Given the description of an element on the screen output the (x, y) to click on. 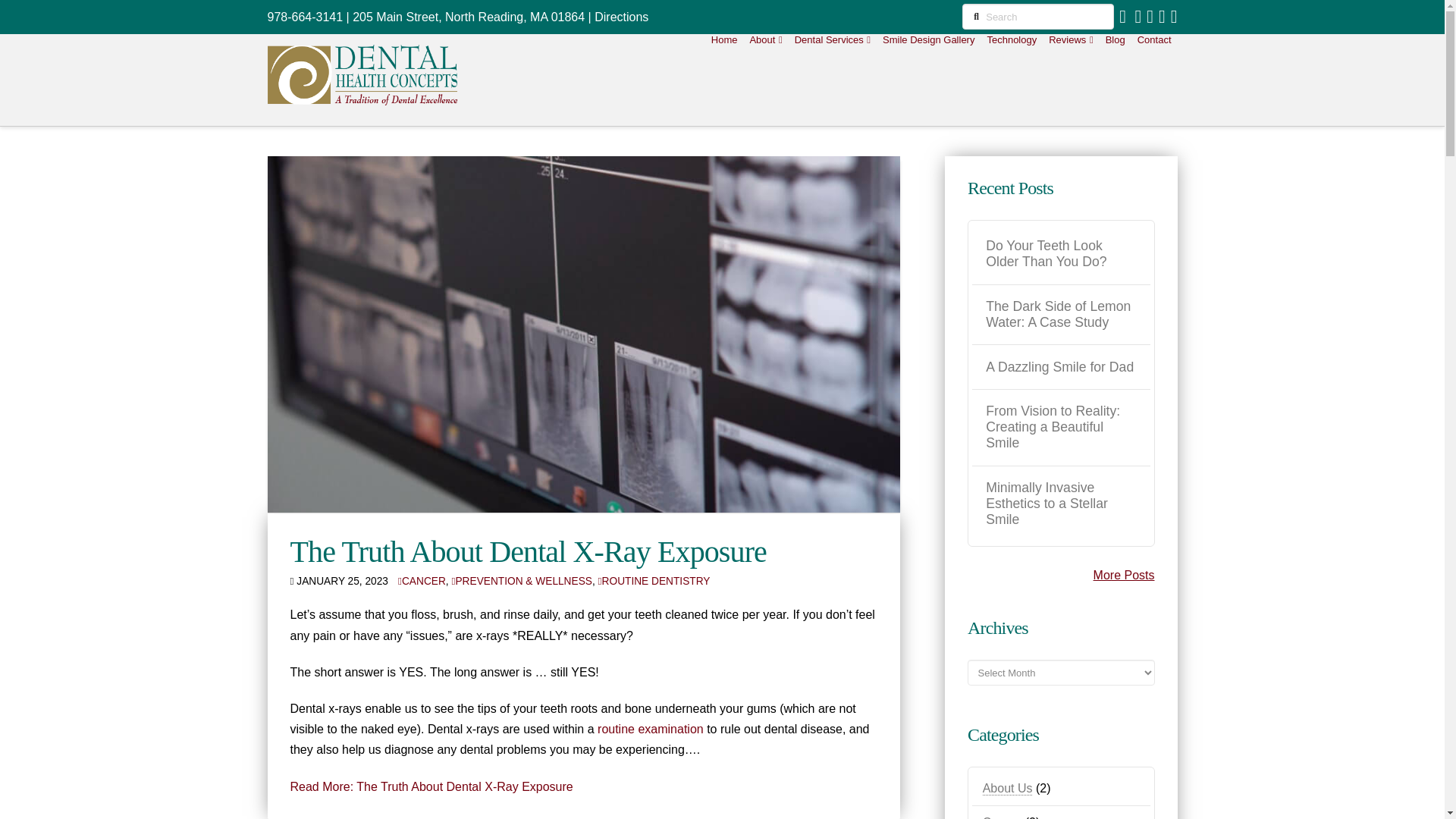
Phone Number (304, 16)
Directions (620, 16)
Dental Services (832, 80)
Smile Design Gallery (927, 80)
978-664-3141 (304, 16)
Permalink to: "The Truth About Dental X-Ray Exposure" (528, 551)
